Given the description of an element on the screen output the (x, y) to click on. 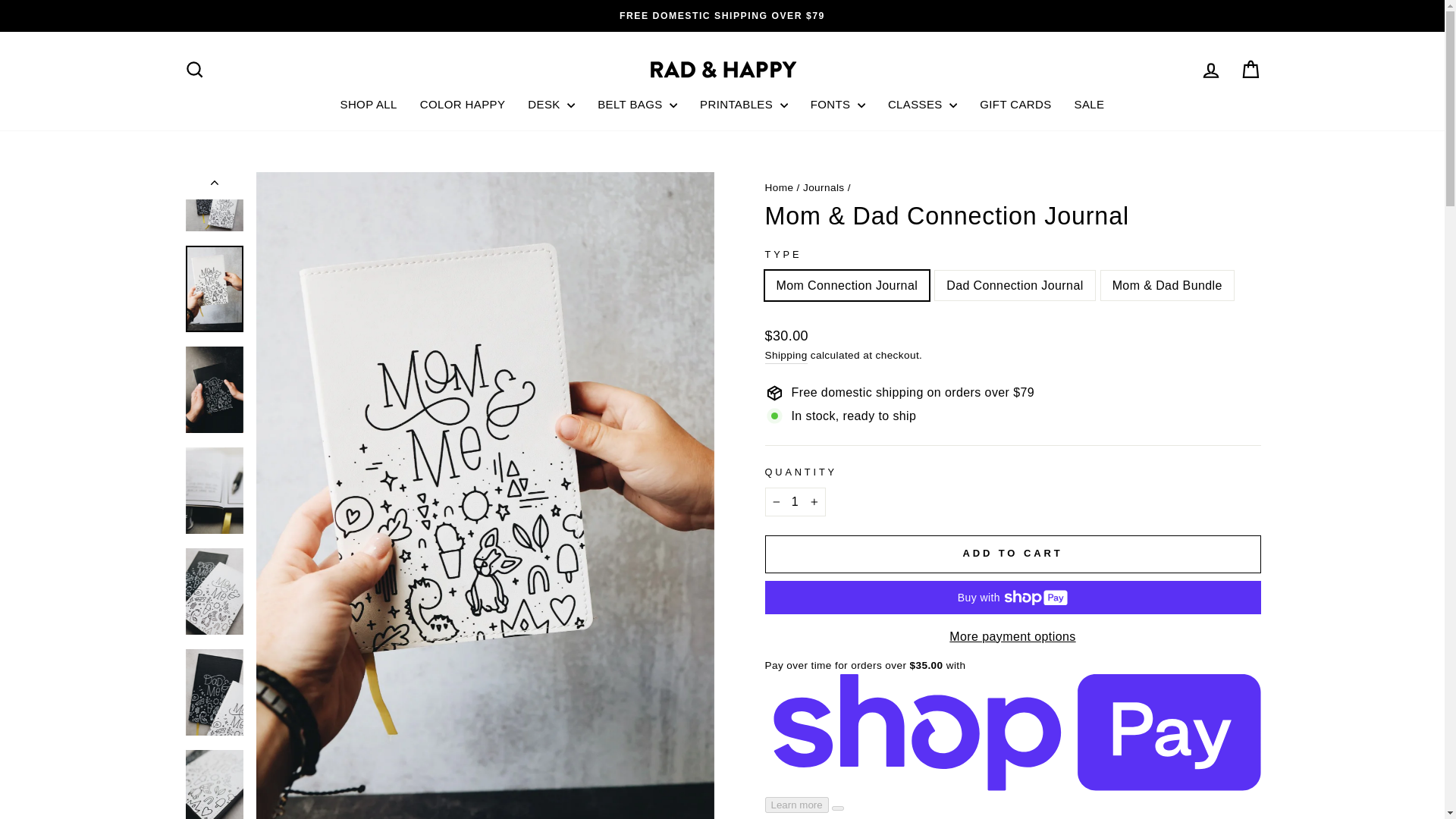
ICON-SEARCH (194, 69)
Back to the frontpage (778, 187)
ACCOUNT (1210, 70)
1 (794, 501)
